Given the description of an element on the screen output the (x, y) to click on. 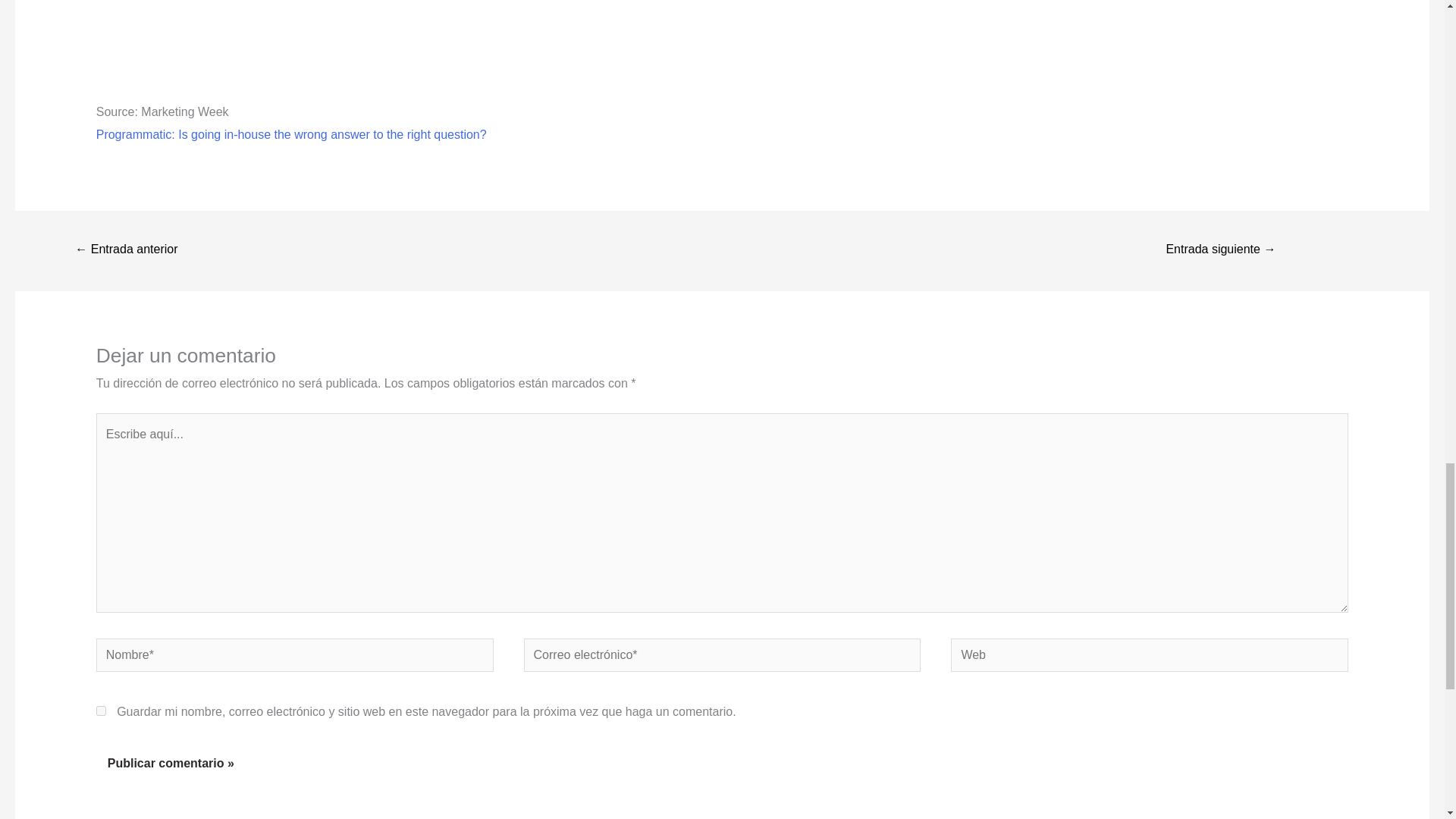
5 psychology rules every UX designer must know (125, 250)
Introducing InVision iOS 2.0: All-New InVision App (1220, 250)
yes (101, 710)
